Given the description of an element on the screen output the (x, y) to click on. 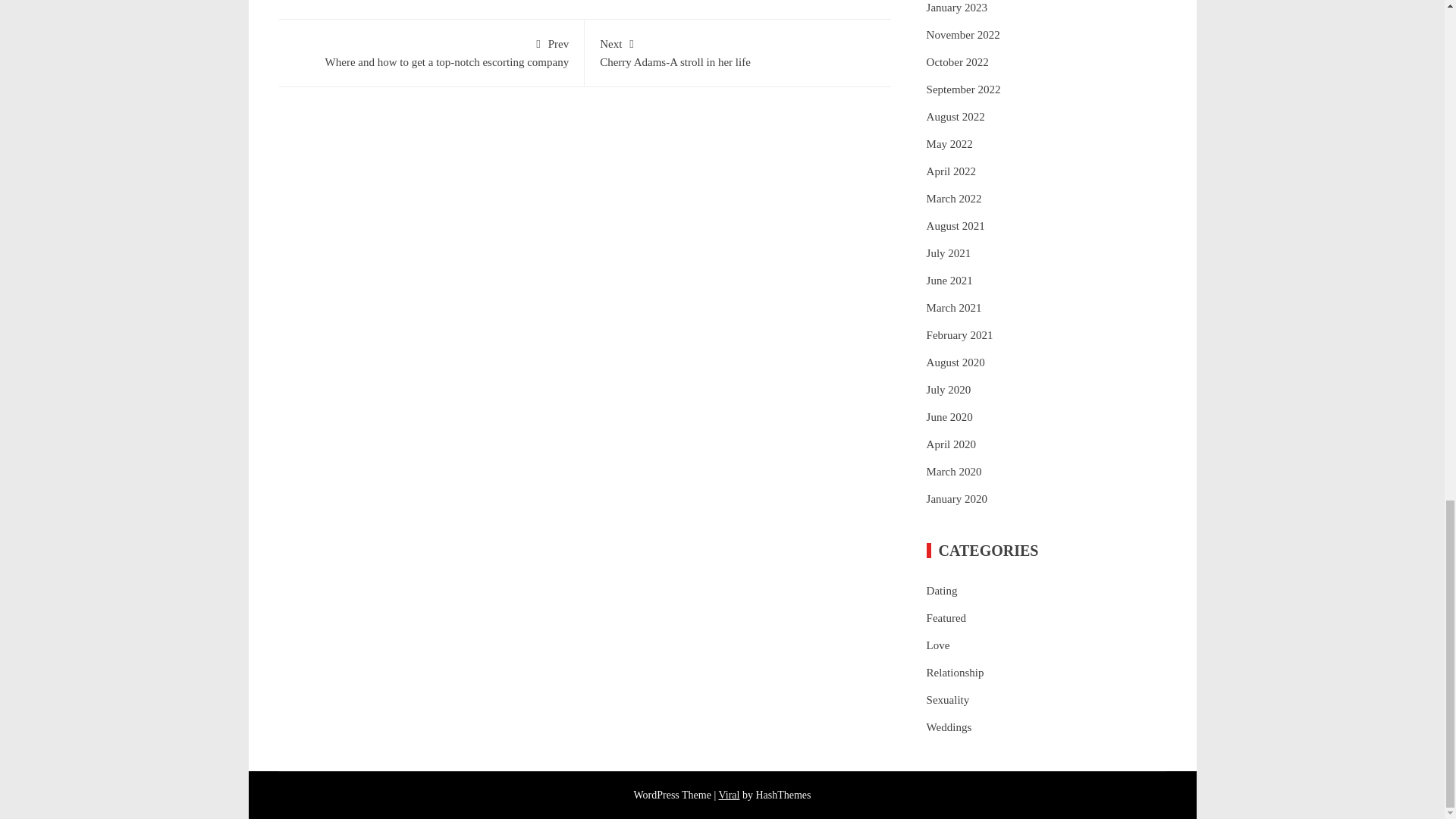
Download Viral (728, 794)
January 2023 (956, 7)
